Given the description of an element on the screen output the (x, y) to click on. 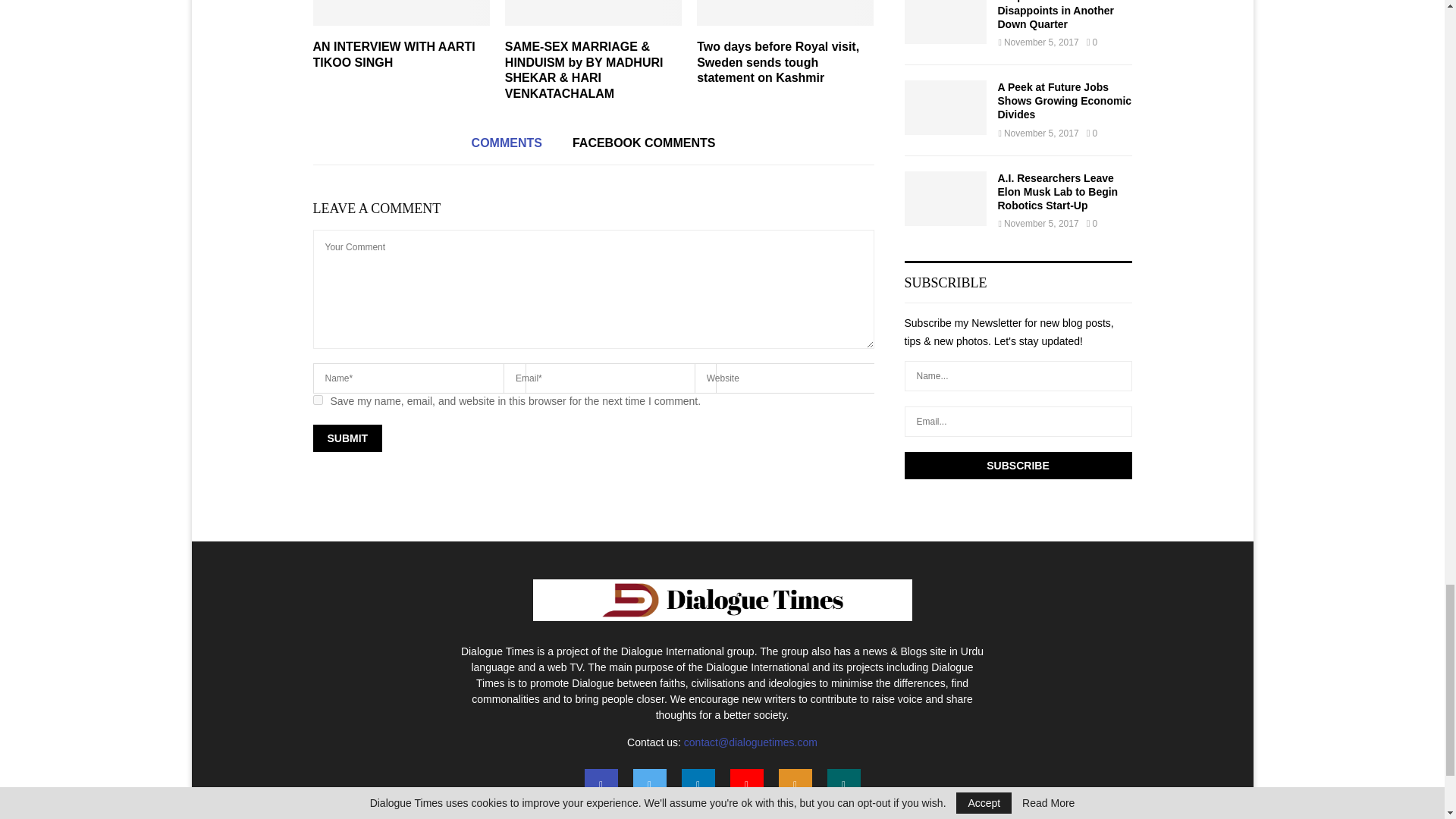
yes (317, 399)
Subscribe (1017, 465)
Submit (347, 438)
